Given the description of an element on the screen output the (x, y) to click on. 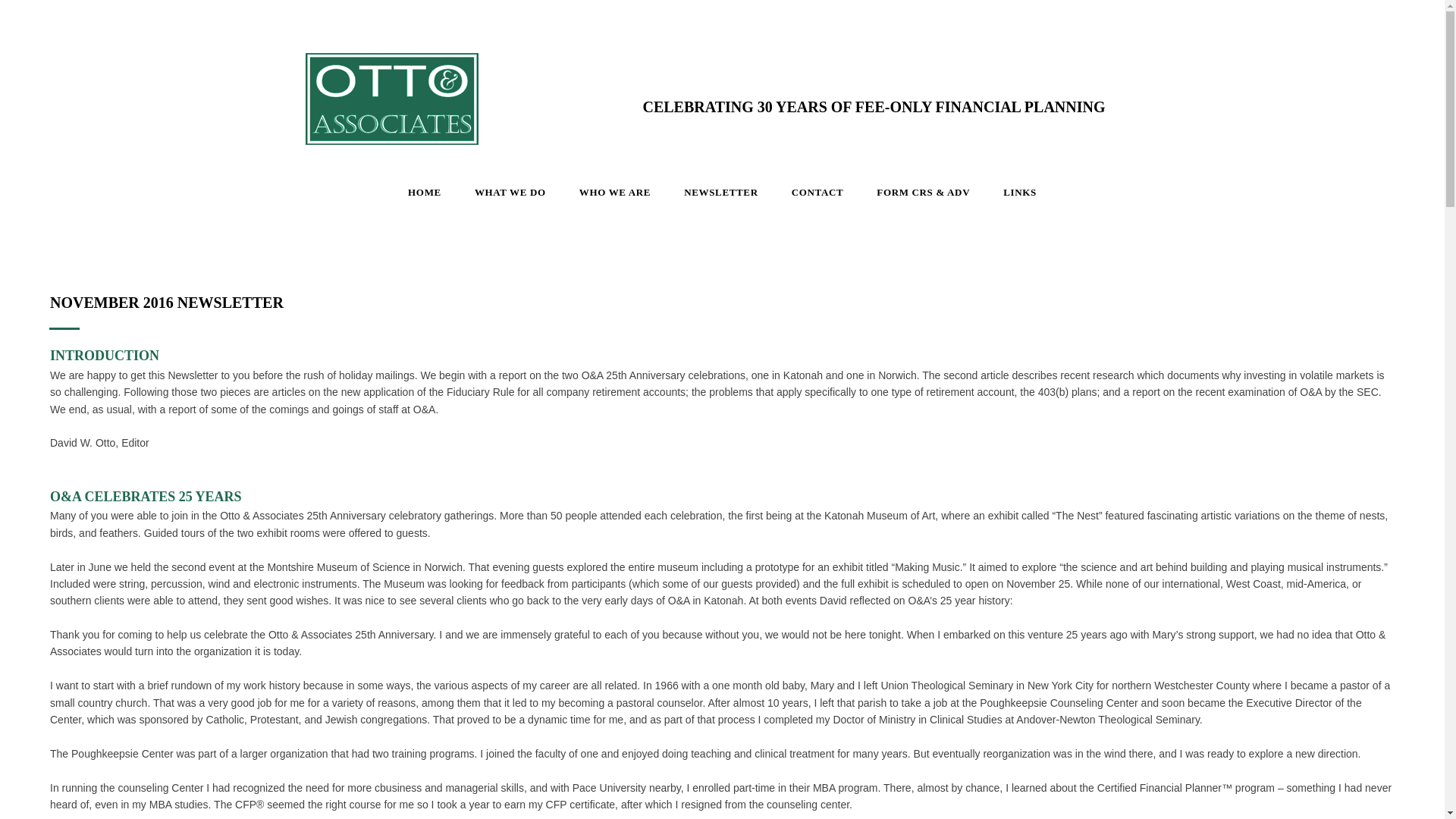
WHAT WE DO (510, 192)
LINKS (1019, 192)
CONTACT (817, 192)
NEWSLETTER (720, 192)
HOME (424, 192)
WHO WE ARE (614, 192)
